Given the description of an element on the screen output the (x, y) to click on. 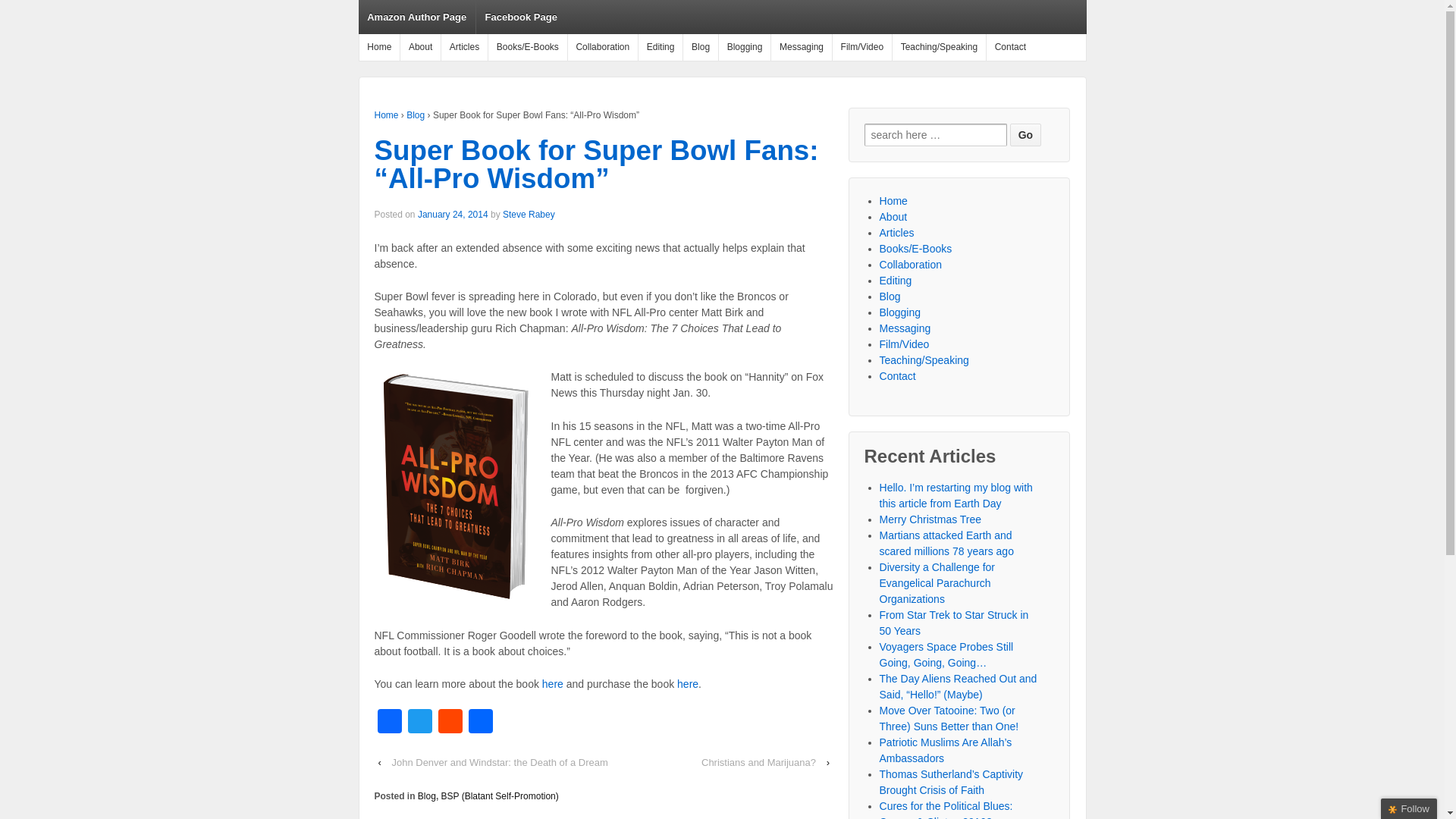
Blogging (743, 47)
John Denver and Windstar: the Death of a Dream (499, 762)
Go (1025, 134)
here (687, 684)
Twitter (419, 723)
Editing (895, 280)
here (552, 684)
Blog (426, 796)
Articles (464, 47)
